Given the description of an element on the screen output the (x, y) to click on. 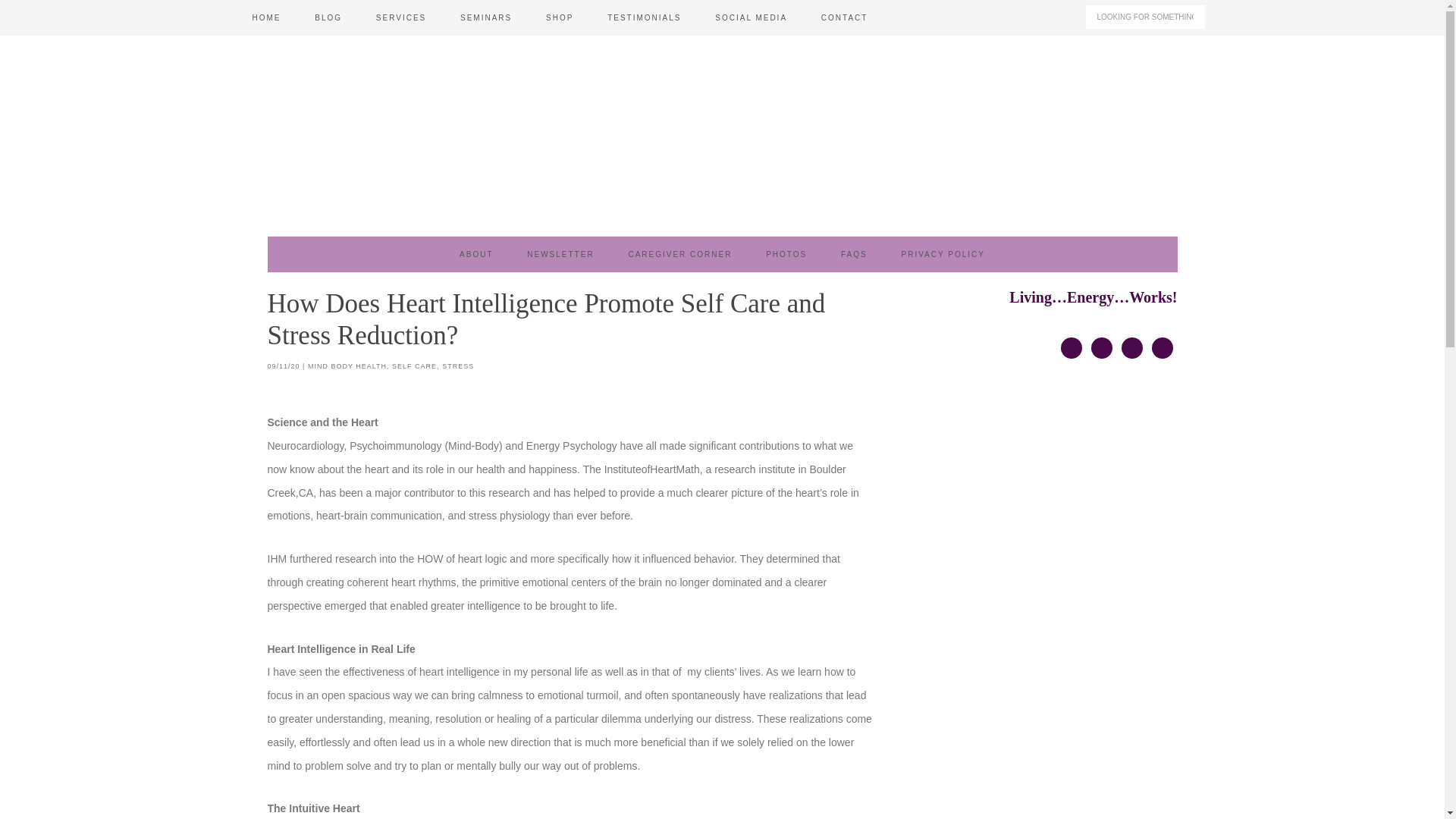
SERVICES (401, 18)
HOME (265, 18)
NEWSLETTER (560, 253)
SHOP (559, 18)
SOCIAL MEDIA (751, 18)
PRIVACY POLICY (941, 253)
Karen Kallie (721, 133)
CONTACT (844, 18)
SELF CARE (413, 366)
MIND BODY HEALTH (347, 366)
SEMINARS (486, 18)
ABOUT (476, 253)
